Given the description of an element on the screen output the (x, y) to click on. 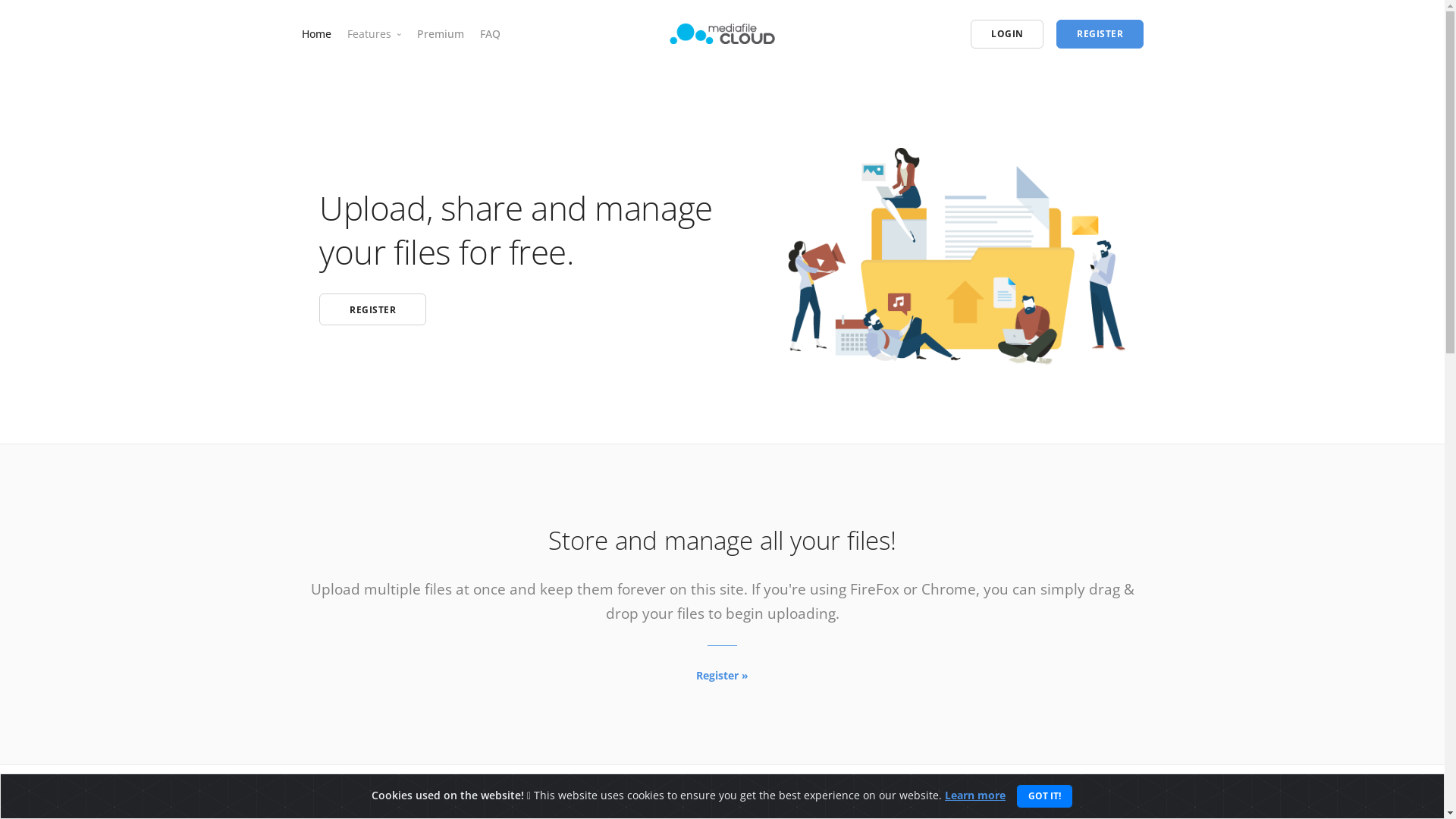
REGISTER Element type: text (372, 309)
Learn more Element type: text (974, 794)
Home Element type: text (316, 33)
Premium Element type: text (440, 33)
GOT IT! Element type: text (1044, 796)
REGISTER Element type: text (1099, 33)
FAQ Element type: text (490, 33)
LOGIN Element type: text (1006, 33)
